Given the description of an element on the screen output the (x, y) to click on. 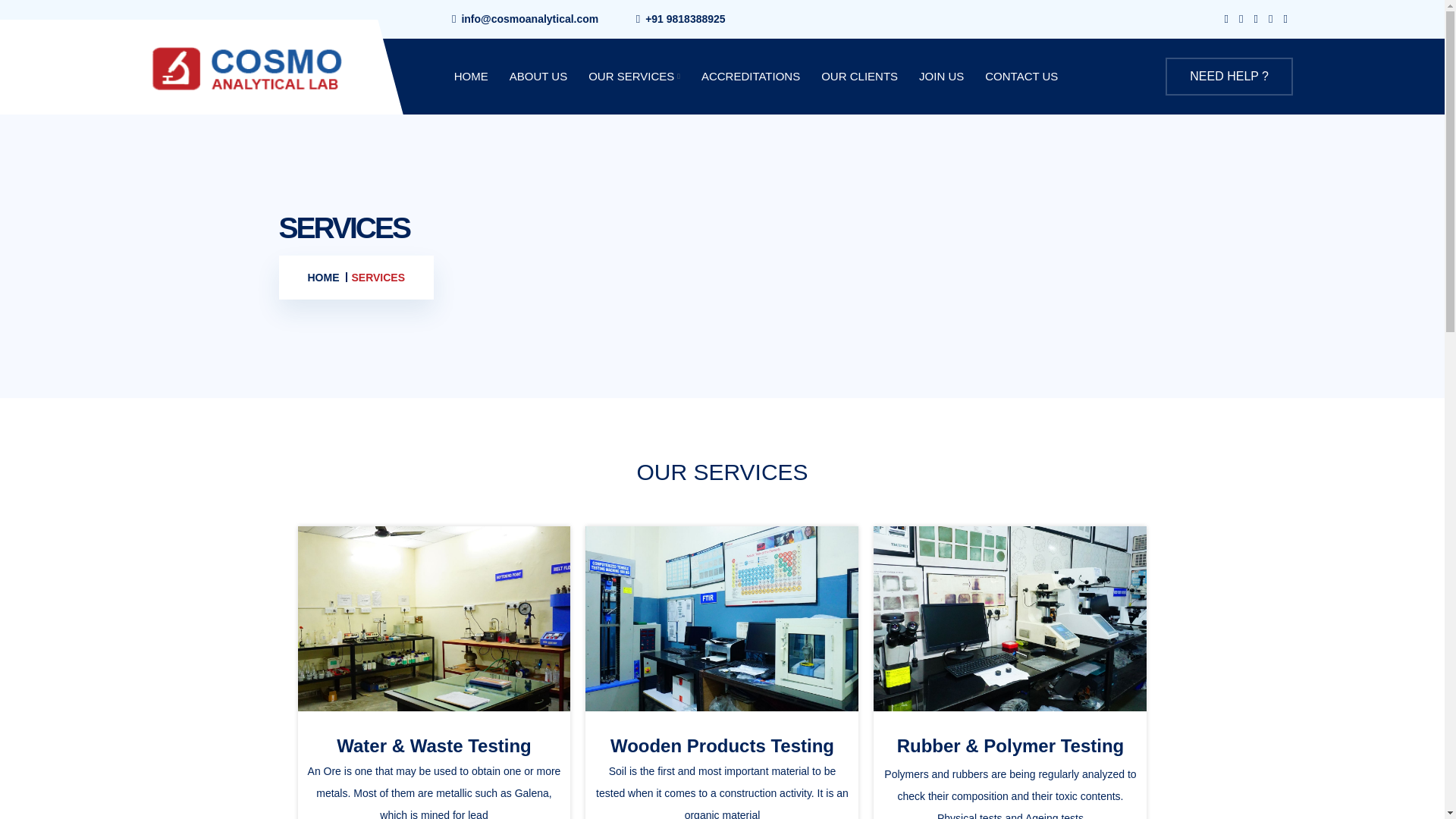
OUR CLIENTS (859, 75)
Accreditations (750, 75)
CONTACT US (1021, 75)
HOME (323, 277)
OUR SERVICES (633, 75)
NEED HELP ? (1229, 76)
Our Services (633, 75)
ACCREDITATIONS (750, 75)
